Given the description of an element on the screen output the (x, y) to click on. 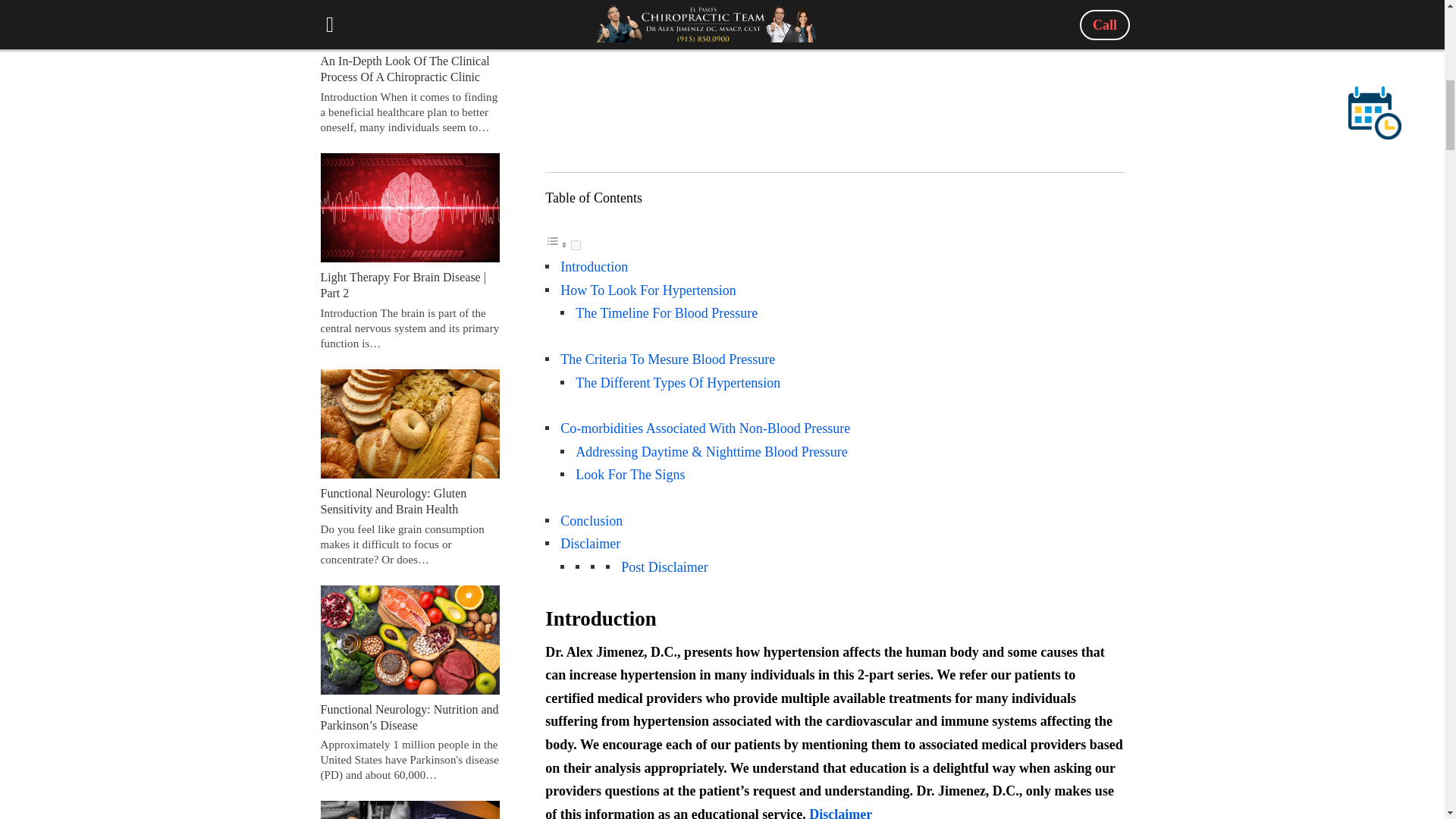
The Criteria To Mesure Blood Pressure (667, 359)
The Timeline For Blood Pressure (666, 313)
How To Look For Hypertension (647, 290)
on (575, 245)
The Different Types Of Hypertension (677, 382)
Co-morbidities Associated With Non-Blood Pressure (705, 427)
Introduction (593, 266)
